Given the description of an element on the screen output the (x, y) to click on. 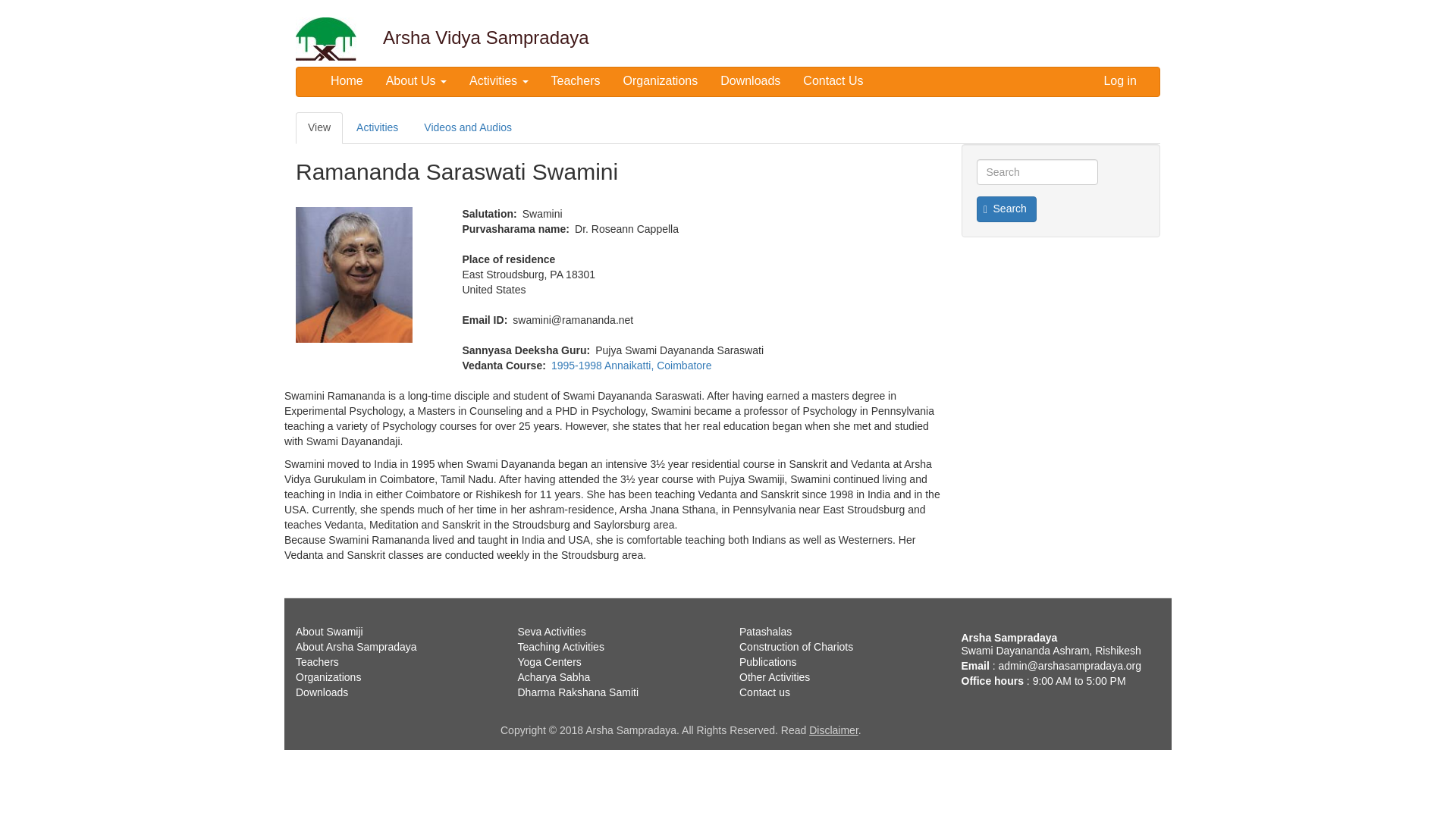
Home (333, 38)
Acharya Sabha (552, 676)
1995-1998 Annaikatti, Coimbatore (631, 365)
Search (1006, 208)
Yoga Centers (548, 662)
About Us (415, 80)
Teaching Activities (560, 646)
Activities (376, 128)
Home (485, 30)
Activities (498, 80)
Arsha Vidya Sampradaya (485, 30)
Teachers (575, 80)
Log in (1120, 80)
Dharma Rakshana Samiti (577, 692)
